Given the description of an element on the screen output the (x, y) to click on. 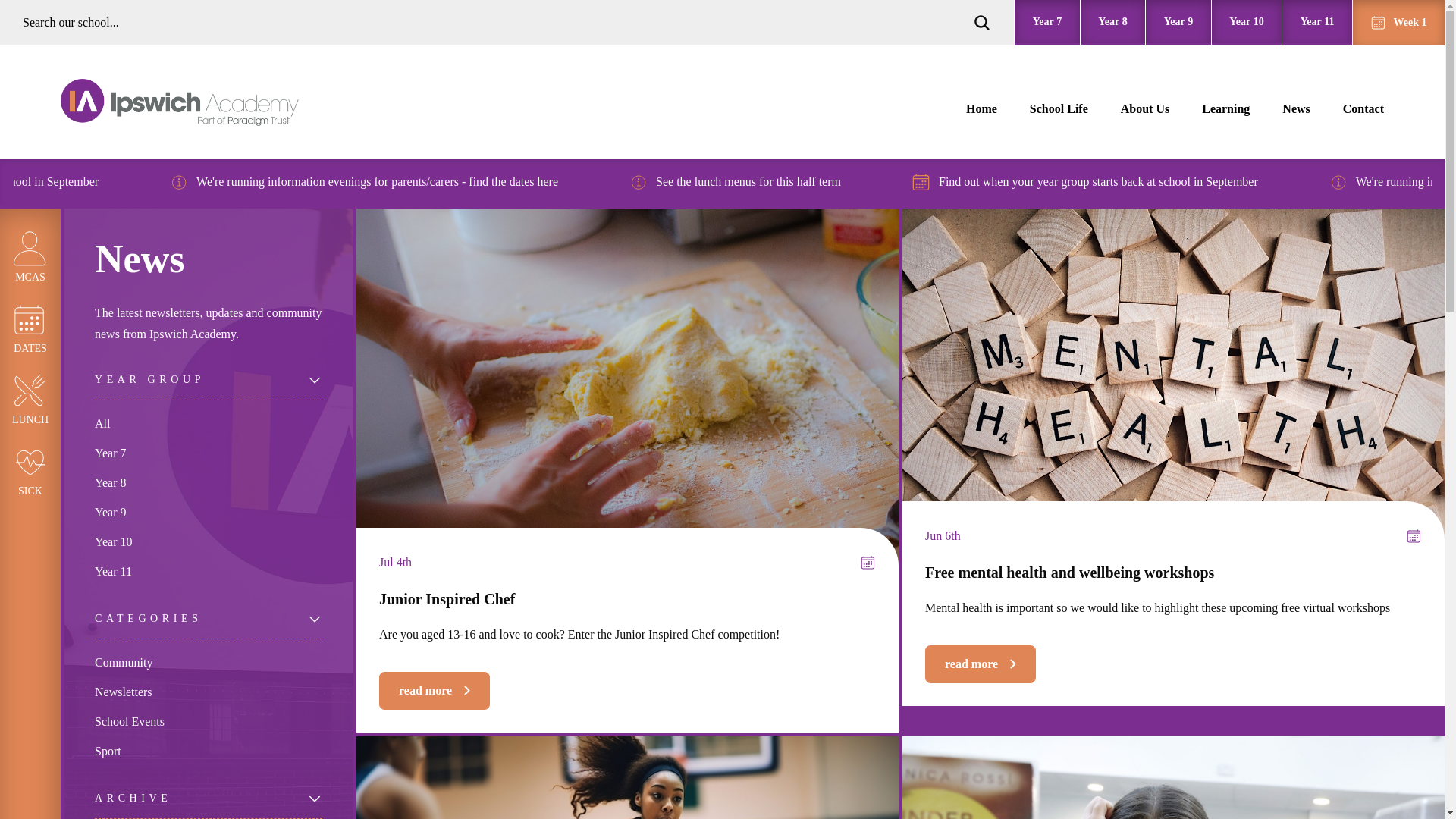
Home (981, 109)
About Us (1145, 109)
Search our school...: (497, 22)
School Life (1047, 22)
